Given the description of an element on the screen output the (x, y) to click on. 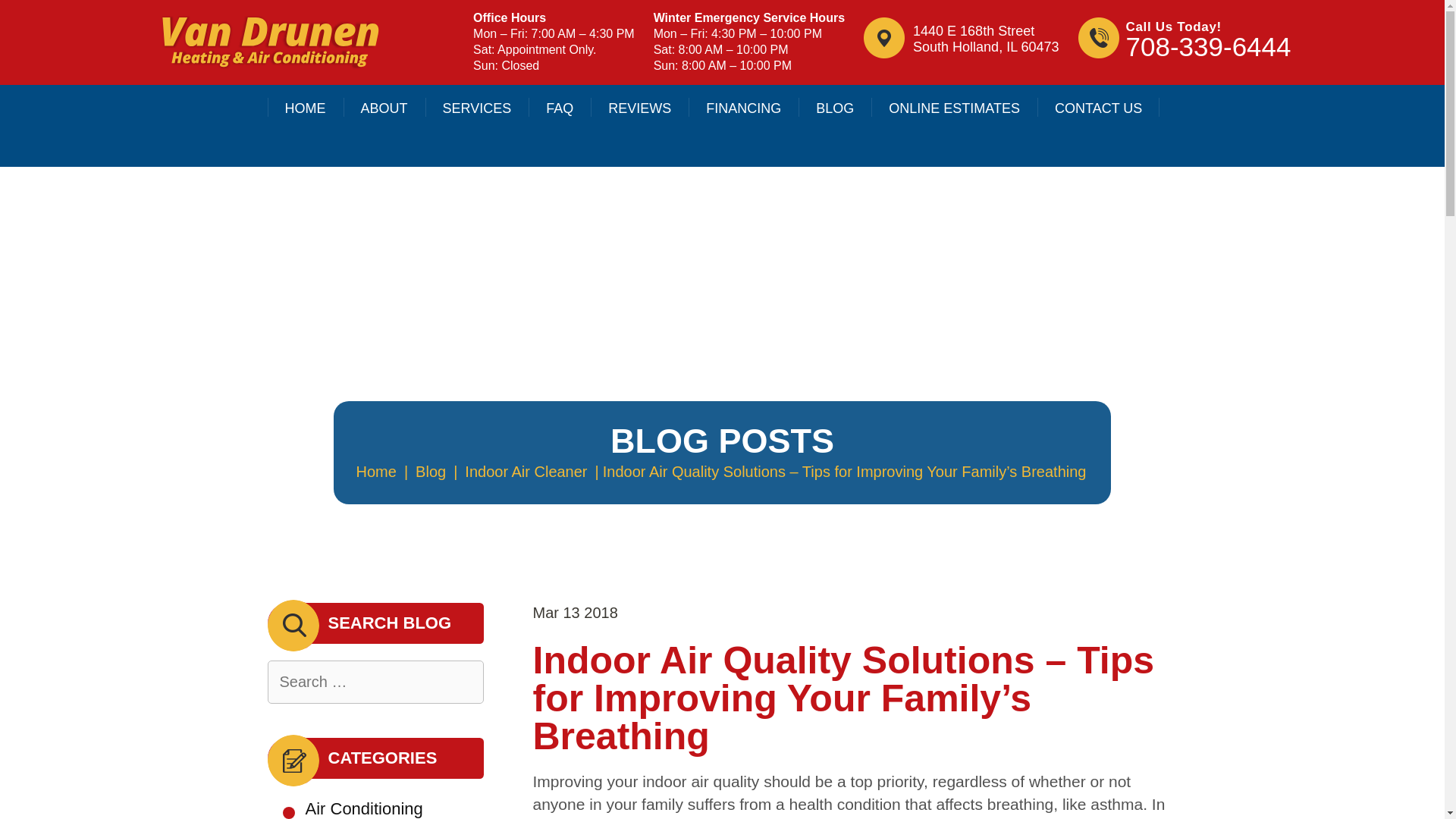
Search (462, 682)
ABOUT (384, 107)
Go to Blog. (430, 471)
SERVICES (985, 39)
Search (477, 107)
Go to the Indoor Air Cleaner category archives. (462, 682)
708-339-6444 (526, 471)
HOME (1208, 46)
